Given the description of an element on the screen output the (x, y) to click on. 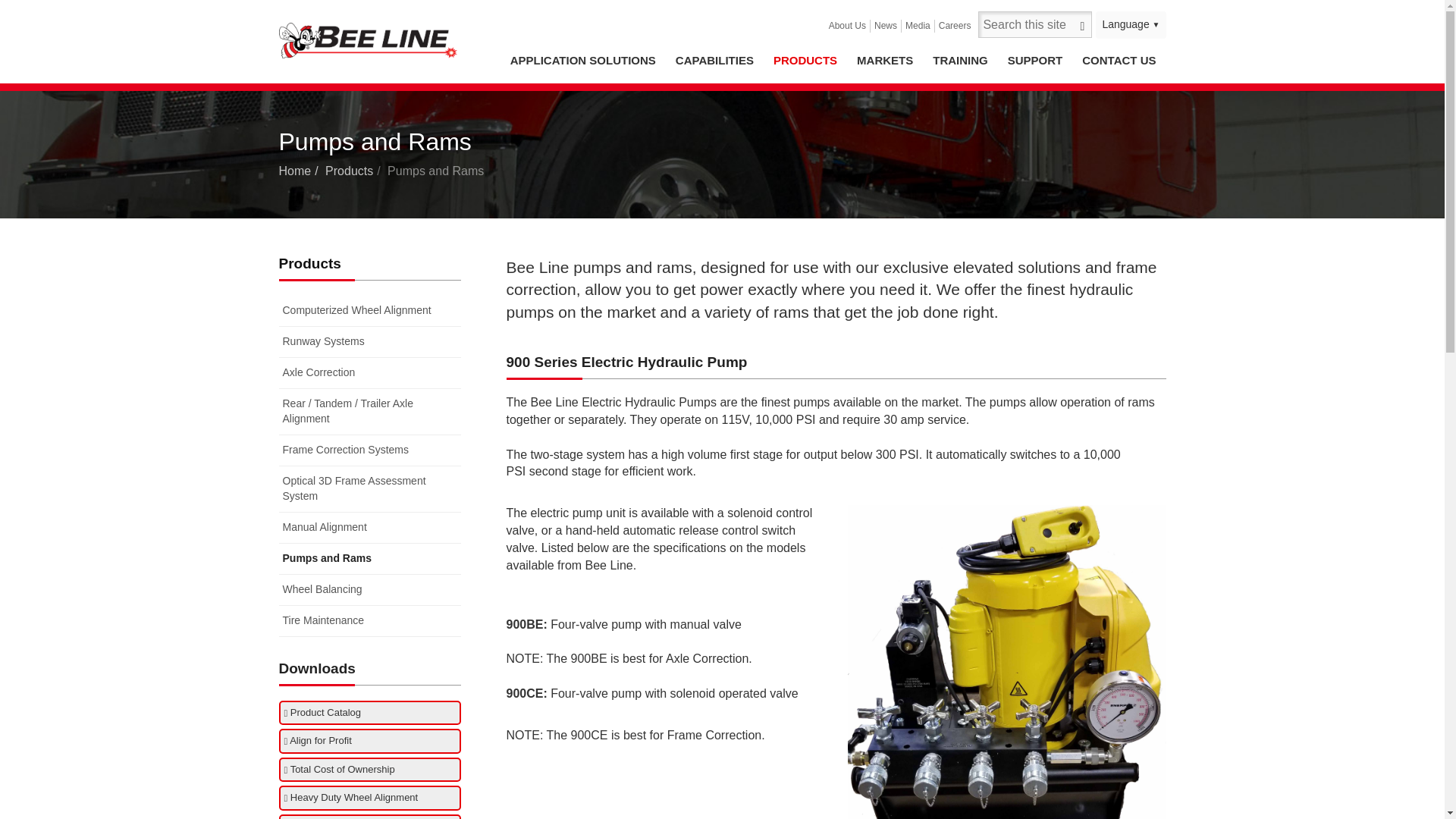
SUPPORT (1035, 60)
900 Series Pump (1006, 662)
CONTACT US (1118, 60)
Search this site (1035, 24)
About Us (847, 25)
PRODUCTS (804, 60)
MARKETS (885, 60)
APPLICATION SOLUTIONS (582, 60)
TRAINING (960, 60)
CAPABILITIES (713, 60)
